Given the description of an element on the screen output the (x, y) to click on. 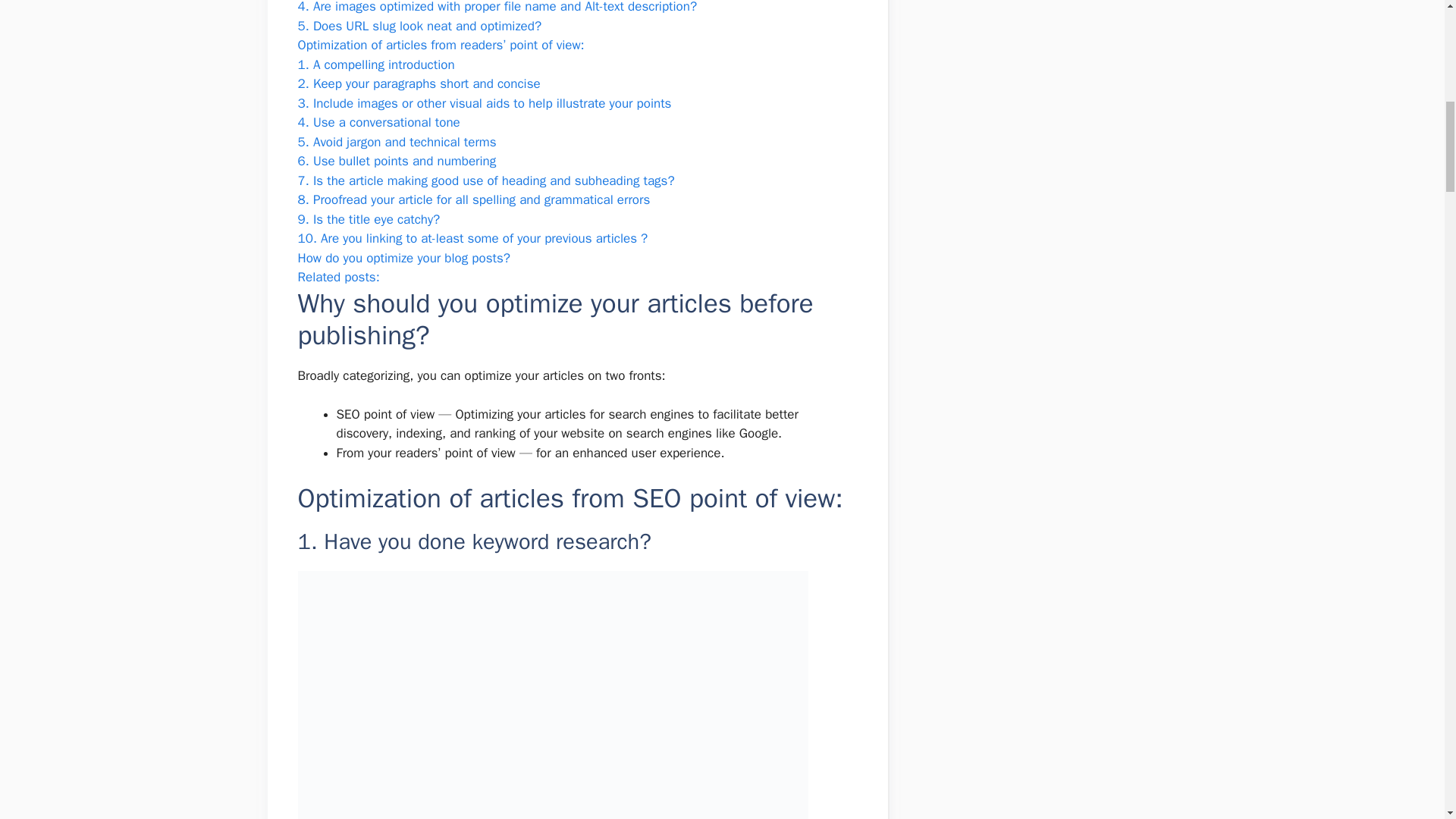
4. Use a conversational tone (378, 122)
9. Is the title eye catchy? (368, 219)
5. Avoid jargon and technical terms (396, 141)
6. Use bullet points and numbering (396, 160)
Related posts: (337, 277)
5. Does URL slug look neat and optimized? (419, 26)
